Given the description of an element on the screen output the (x, y) to click on. 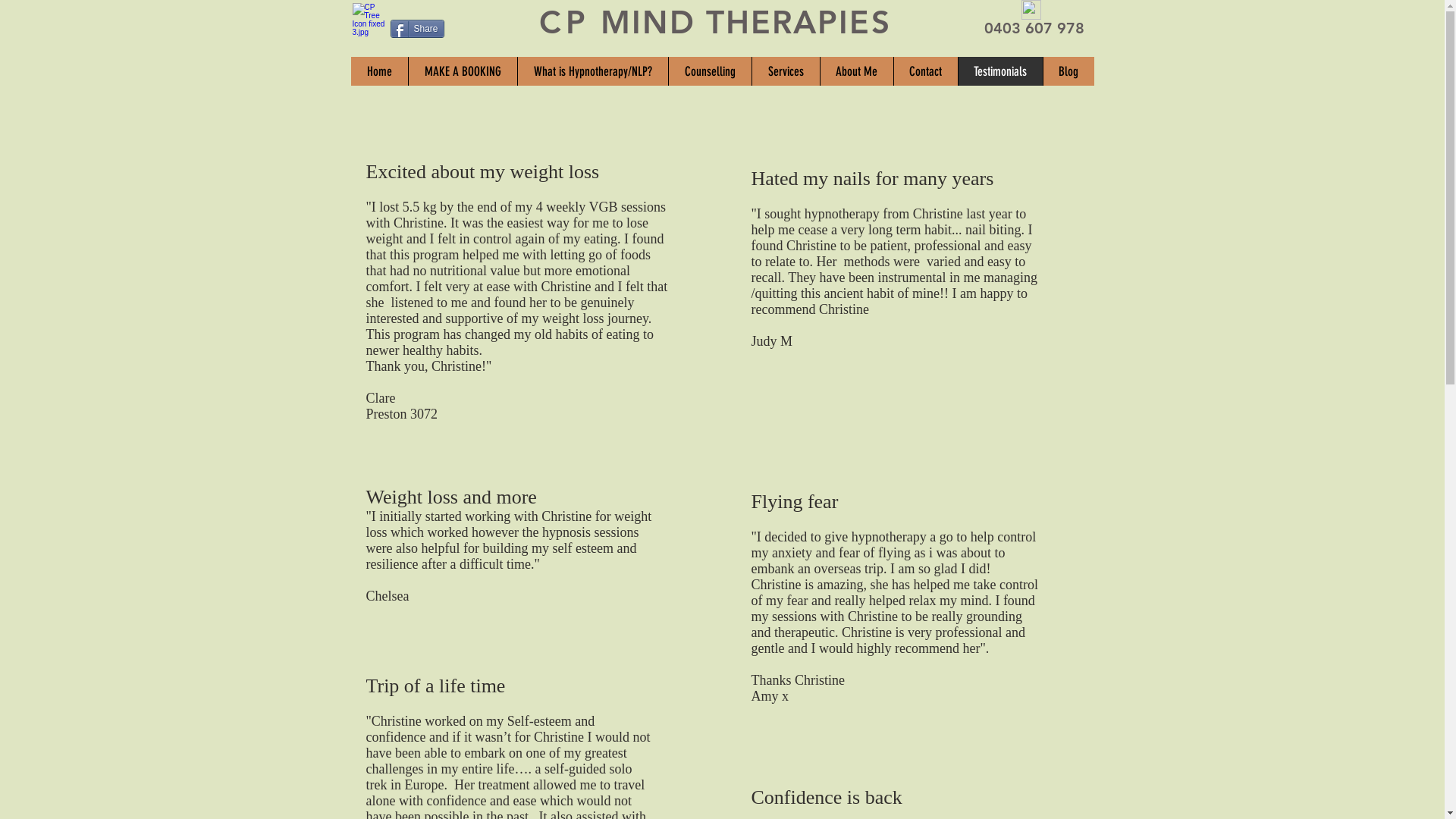
Home Element type: text (378, 70)
MAKE A BOOKING Element type: text (462, 70)
Counselling Element type: text (708, 70)
What is Hypnotherapy/NLP? Element type: text (592, 70)
Services Element type: text (784, 70)
Blog Element type: text (1067, 70)
Testimonials Element type: text (999, 70)
Share Element type: text (416, 28)
Take me home Element type: hover (370, 25)
Contact Element type: text (925, 70)
About Me Element type: text (855, 70)
